Given the description of an element on the screen output the (x, y) to click on. 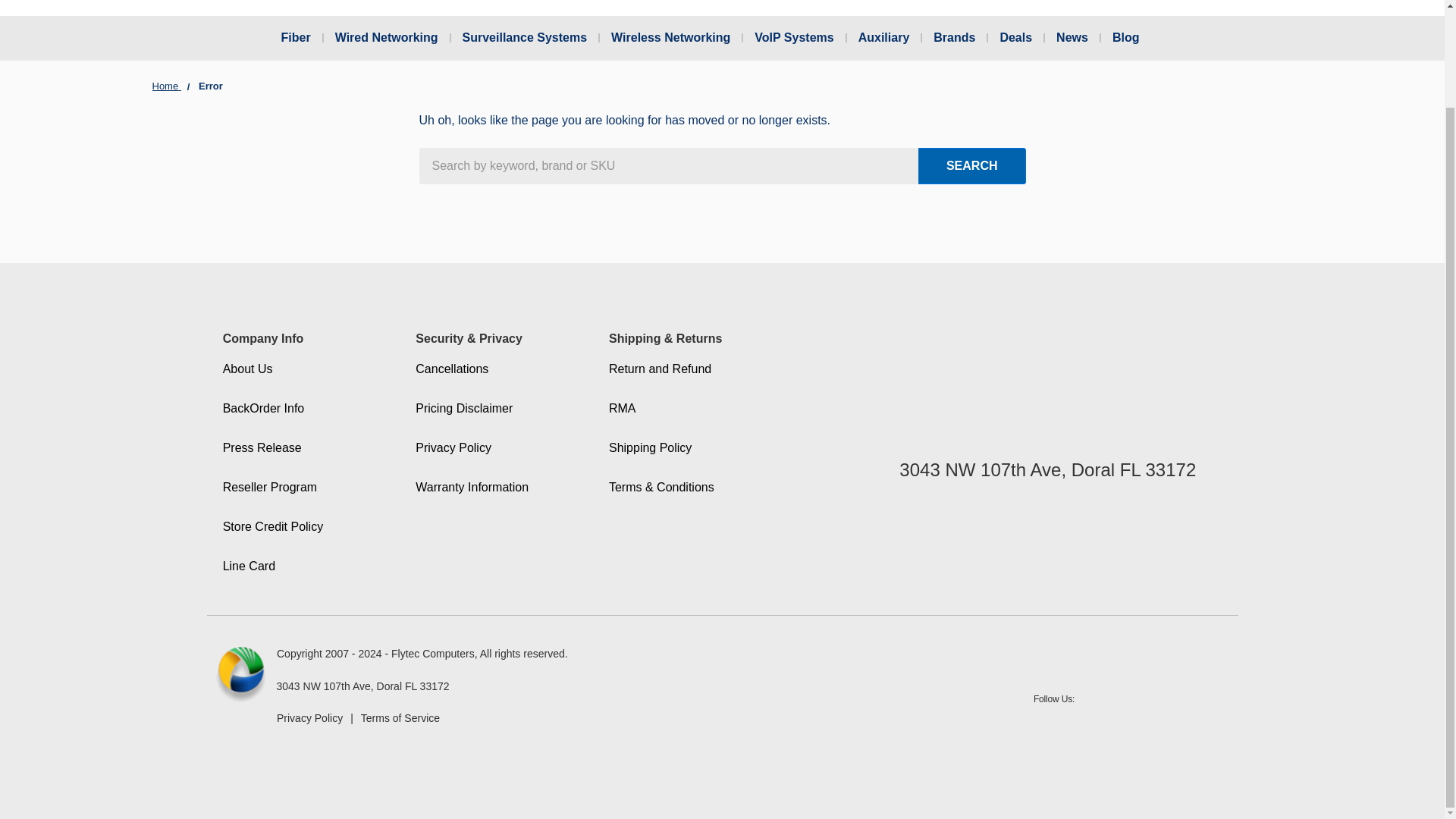
Fiber (305, 37)
Search (972, 166)
